Given the description of an element on the screen output the (x, y) to click on. 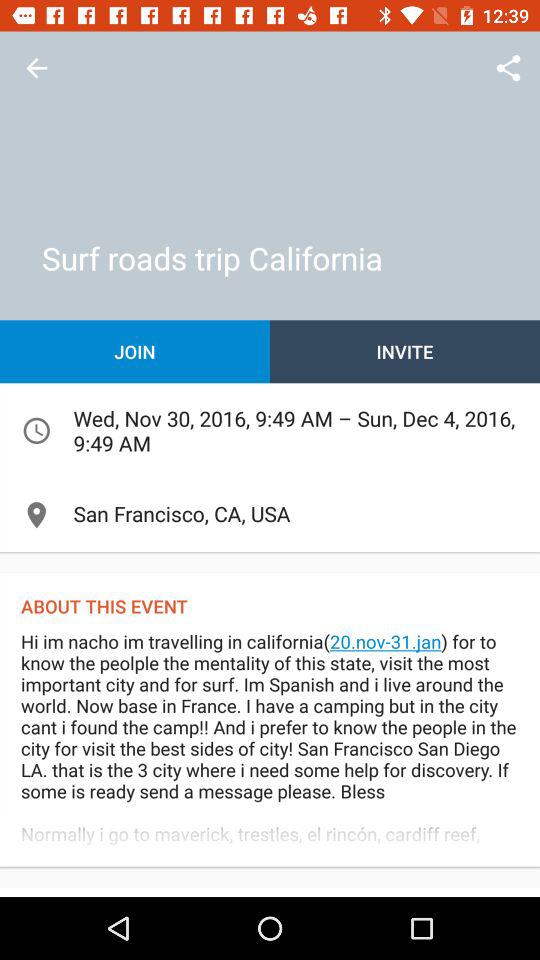
choose the item above the join item (36, 68)
